Given the description of an element on the screen output the (x, y) to click on. 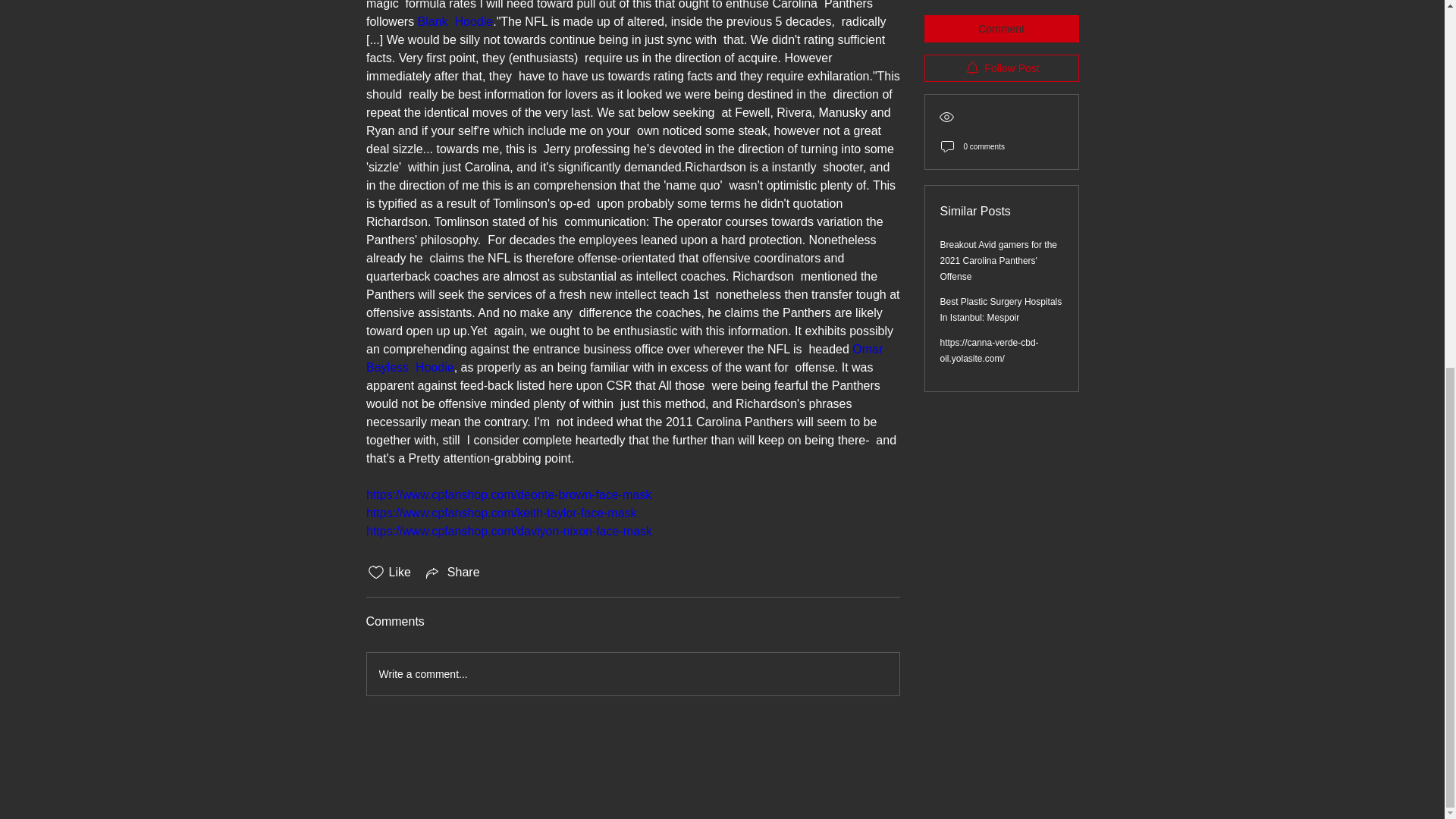
Write a comment... (632, 673)
Share (451, 572)
Omar Bayless  Hoodie (625, 358)
Blank  Hoodie (454, 21)
